Given the description of an element on the screen output the (x, y) to click on. 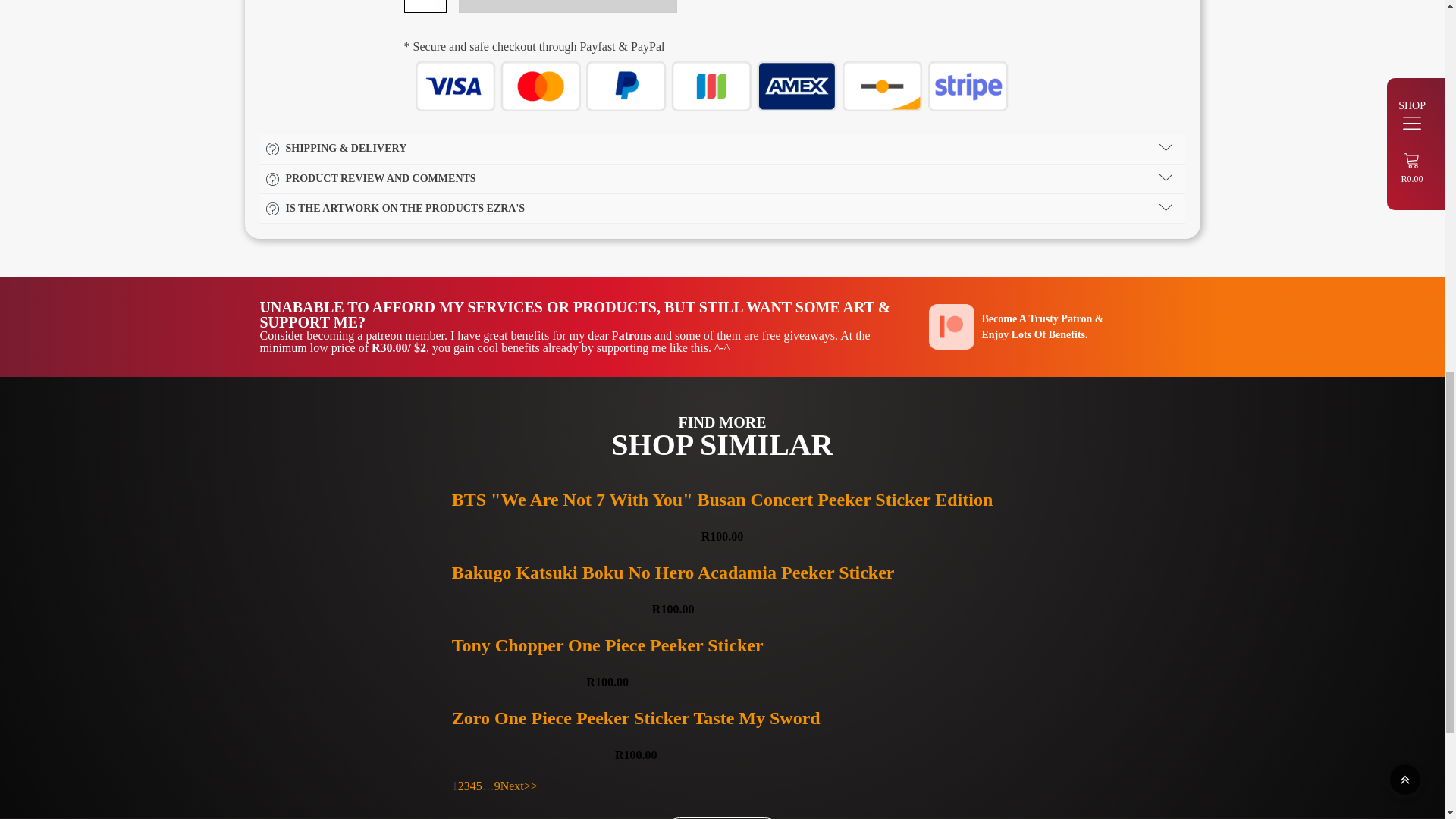
1 (425, 6)
